Given the description of an element on the screen output the (x, y) to click on. 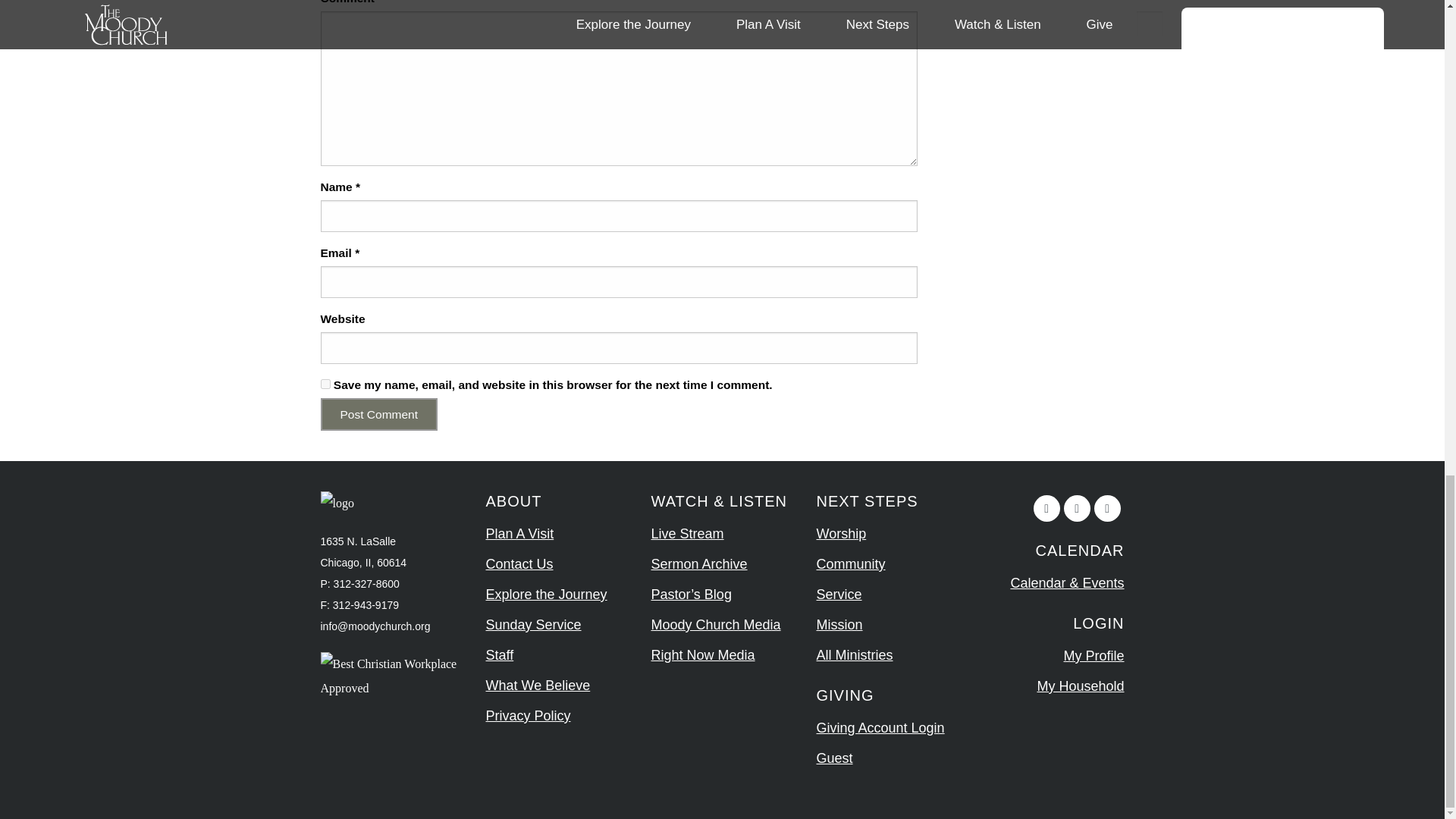
yes (325, 384)
Post Comment (379, 414)
Post Comment (379, 414)
